Given the description of an element on the screen output the (x, y) to click on. 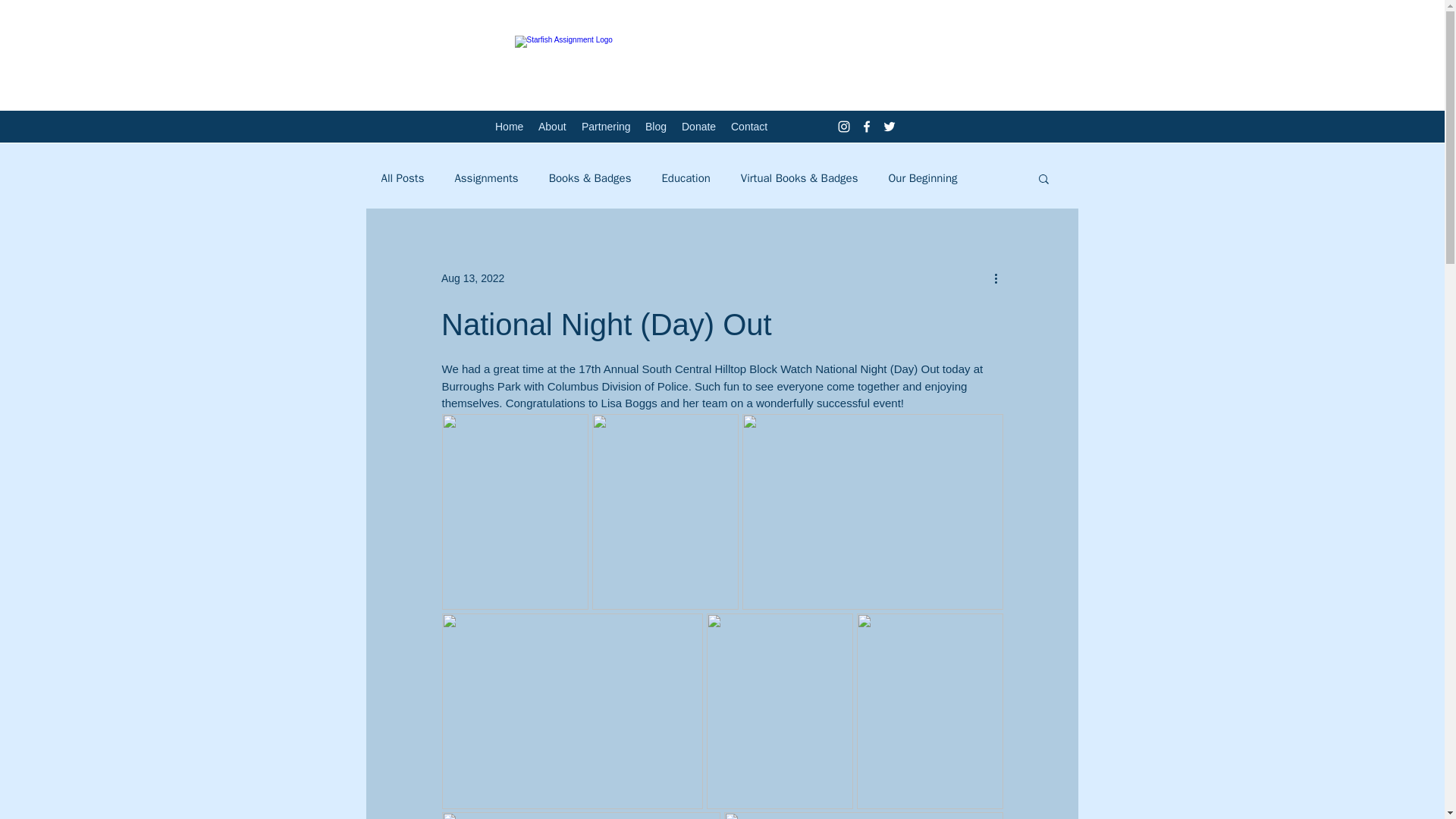
Blog (655, 126)
Home (509, 126)
Partnering (605, 126)
All Posts (401, 178)
Education (685, 178)
Our Beginning (922, 178)
Assignments (486, 178)
Aug 13, 2022 (472, 277)
About (552, 126)
Contact (748, 126)
Donate (698, 126)
